Given the description of an element on the screen output the (x, y) to click on. 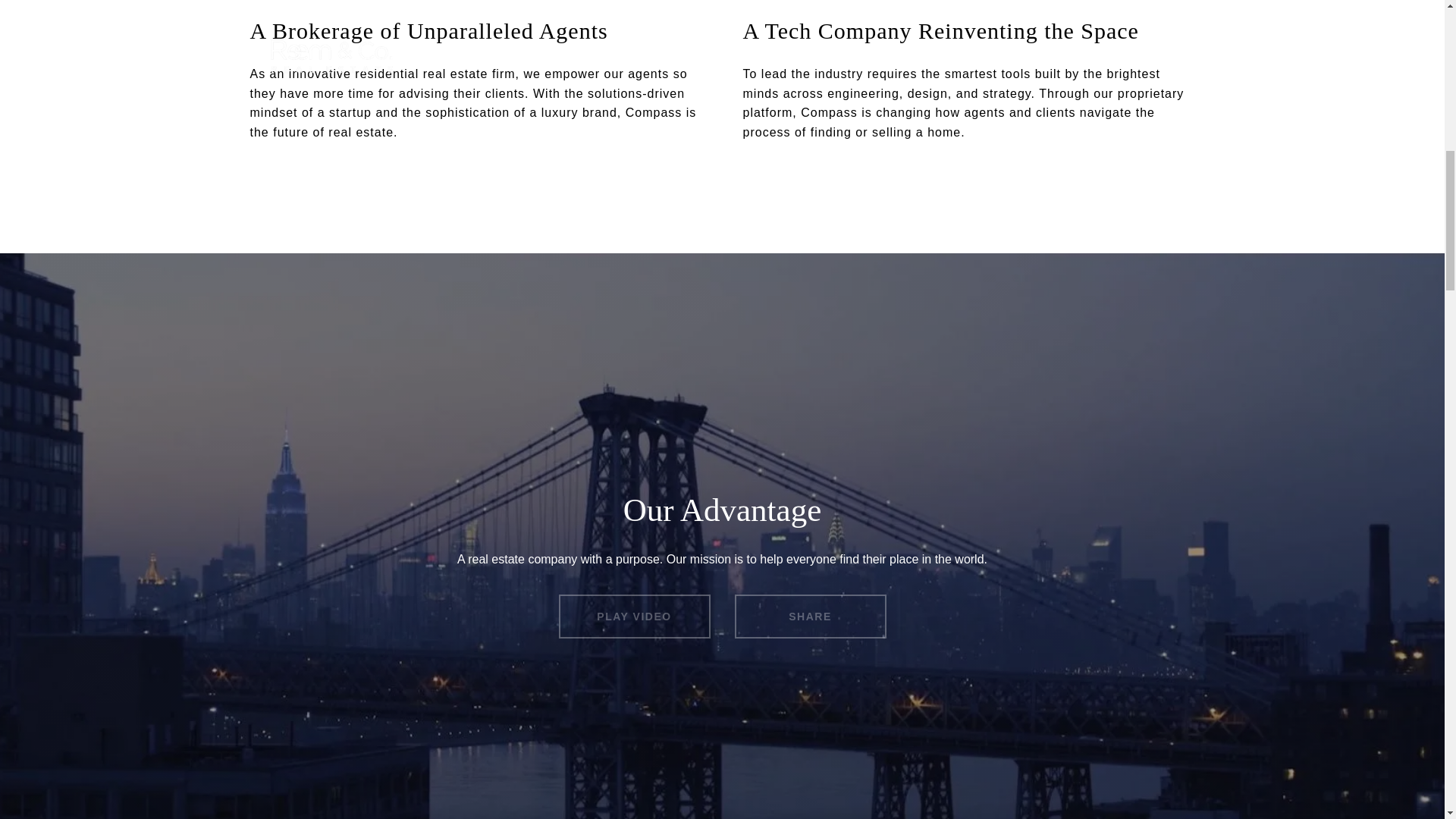
PLAY VIDEO (633, 616)
SHARE (809, 616)
